Given the description of an element on the screen output the (x, y) to click on. 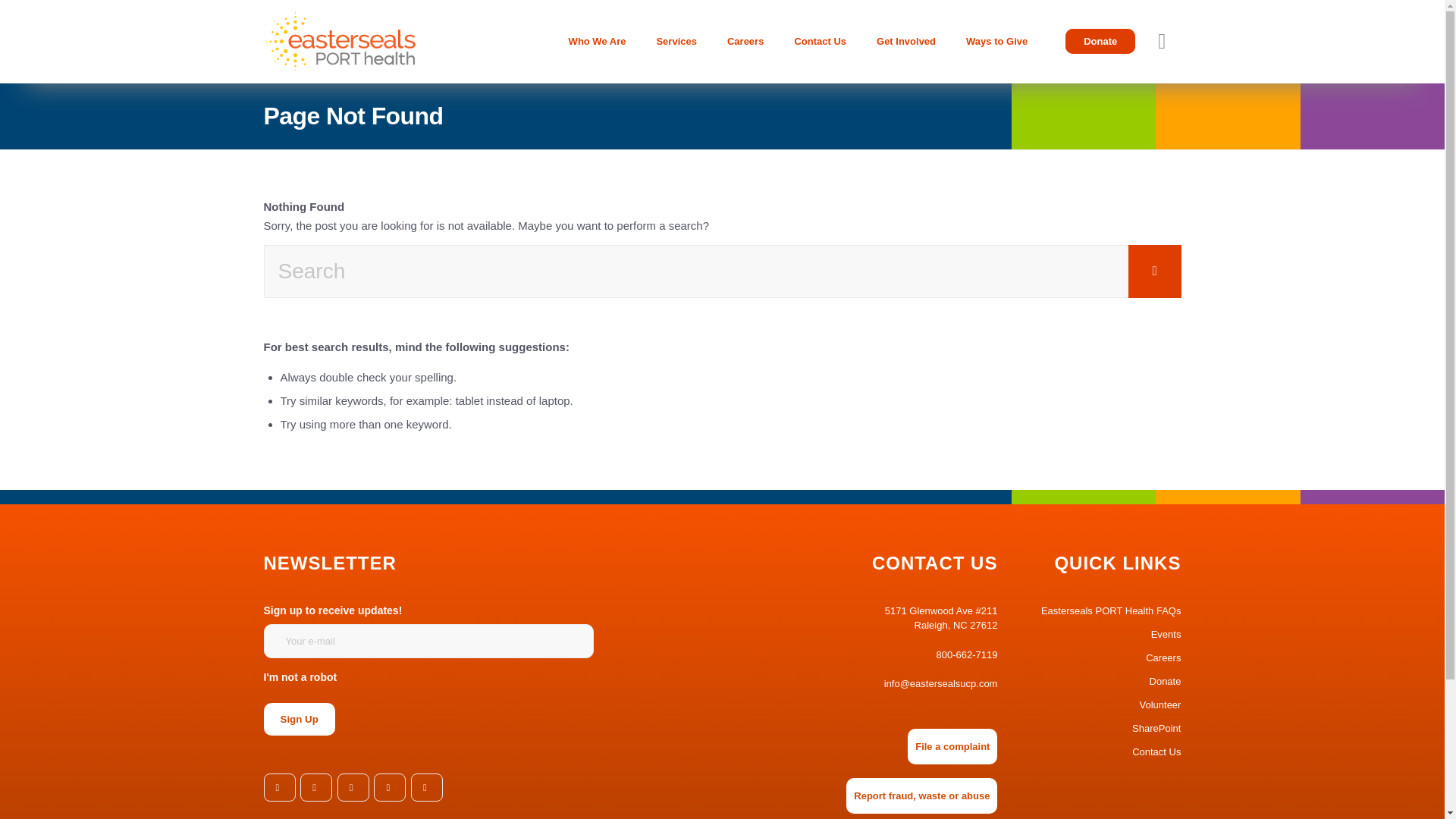
Easterseals-Port (354, 41)
Click to start search (1154, 271)
Who We Are (597, 41)
Sign Up (298, 718)
